Given the description of an element on the screen output the (x, y) to click on. 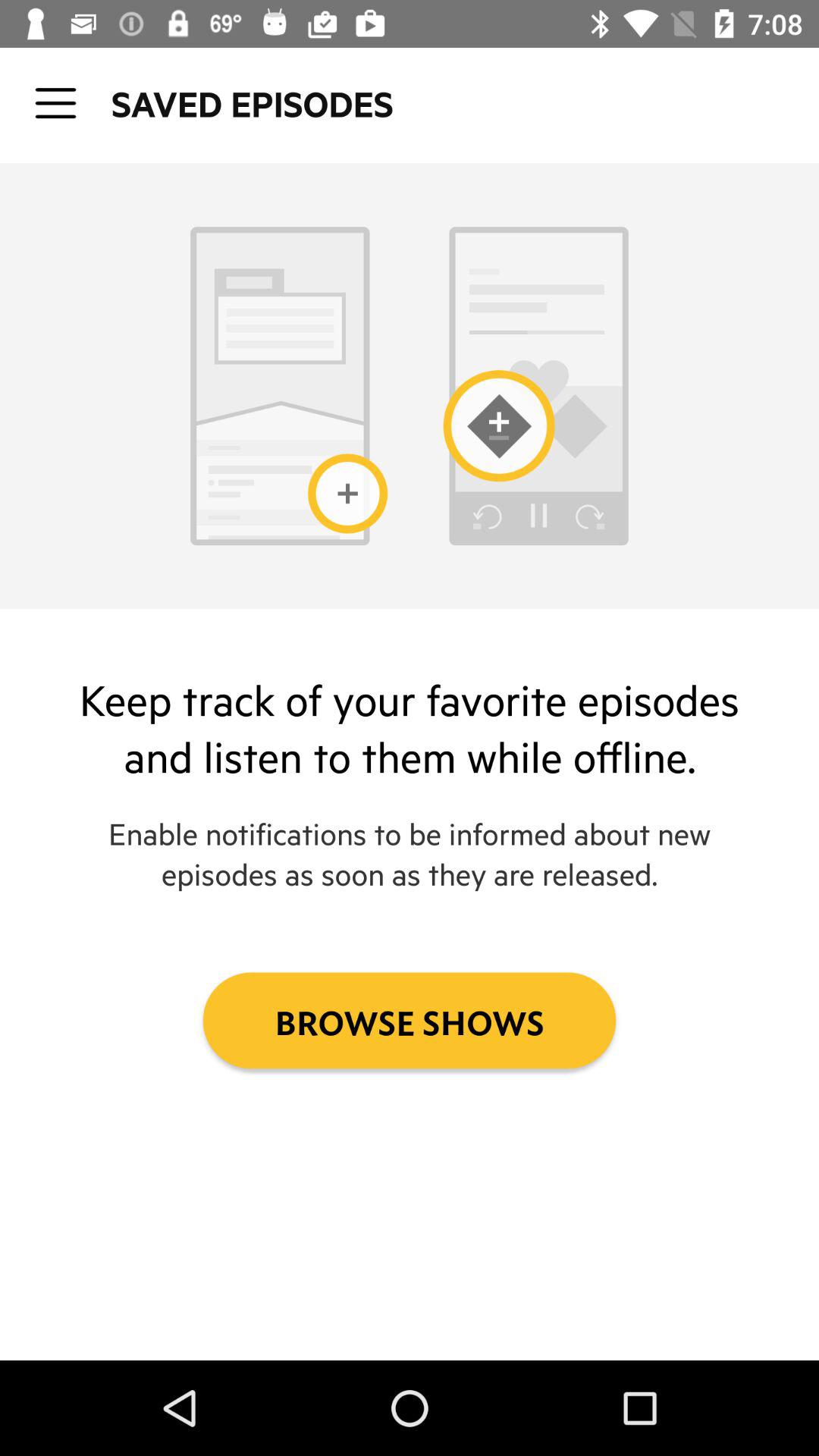
menu options (55, 103)
